Given the description of an element on the screen output the (x, y) to click on. 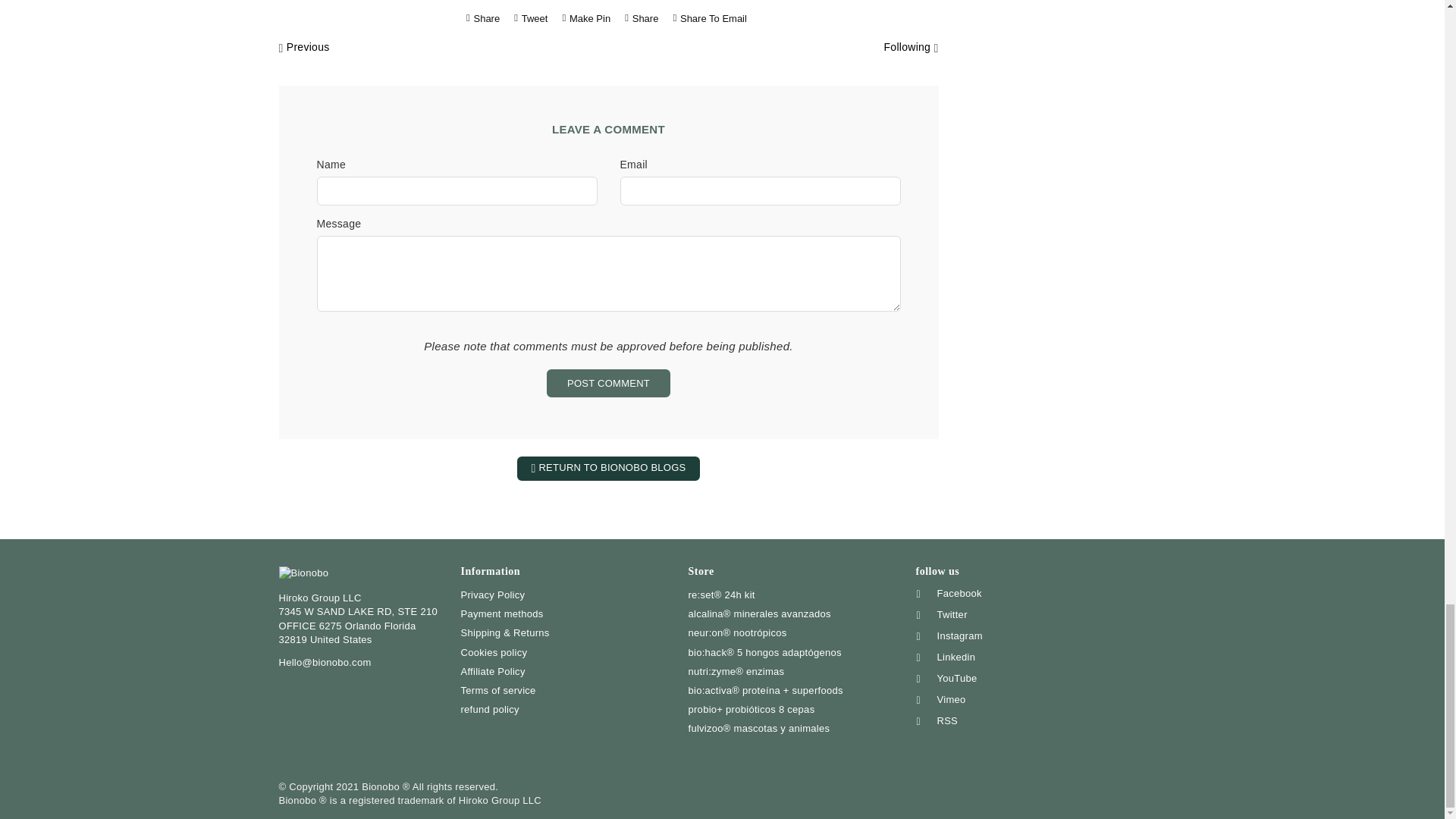
post comment (608, 383)
Share on Linkedin (641, 18)
Pin on Pinterest (586, 18)
Tweet on Twitter (531, 18)
Share on Facebook (483, 18)
